Given the description of an element on the screen output the (x, y) to click on. 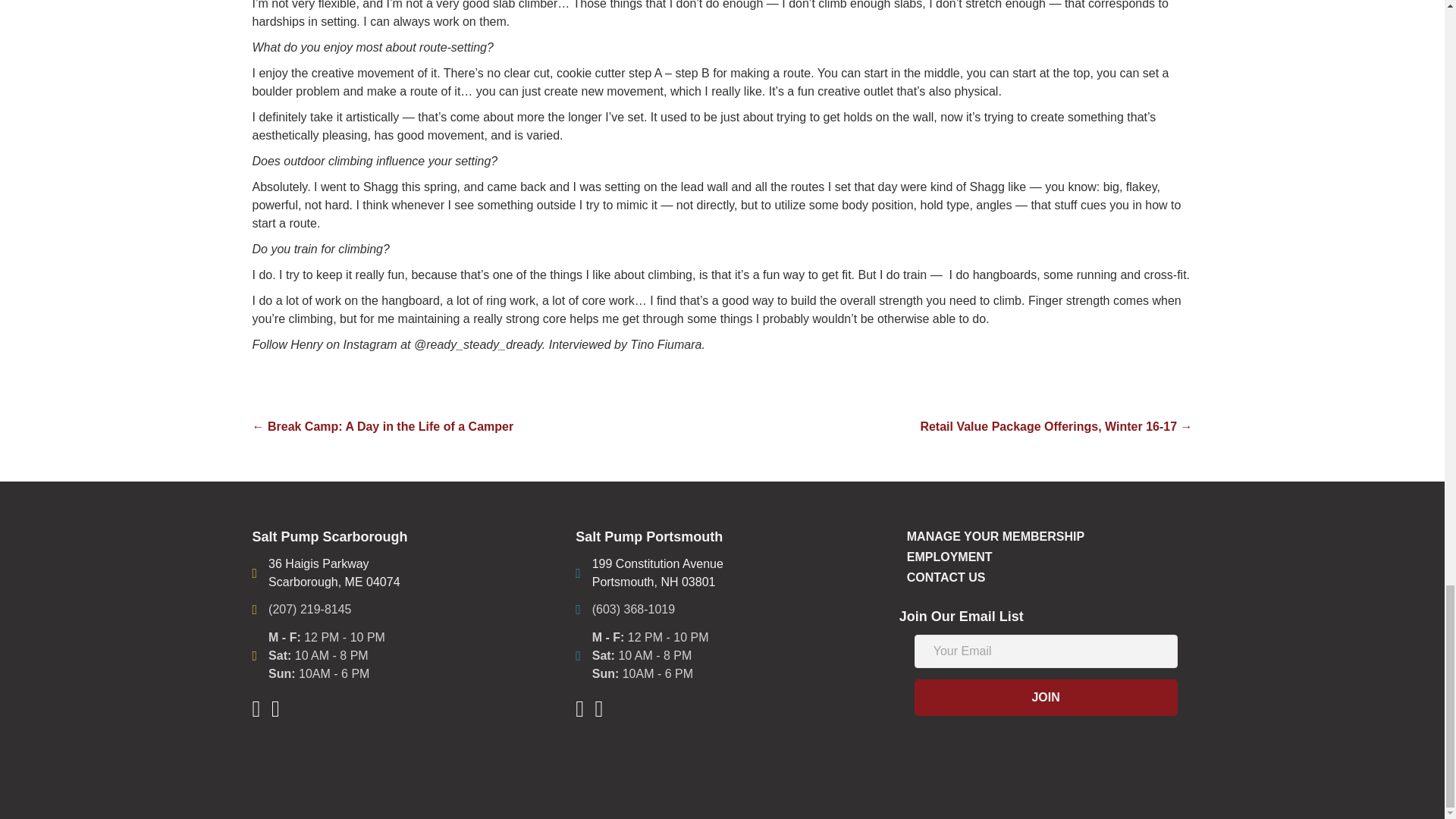
CONTACT US (1045, 578)
EMPLOYMENT (1045, 557)
JOIN (1045, 697)
MANAGE YOUR MEMBERSHIP (332, 573)
